Given the description of an element on the screen output the (x, y) to click on. 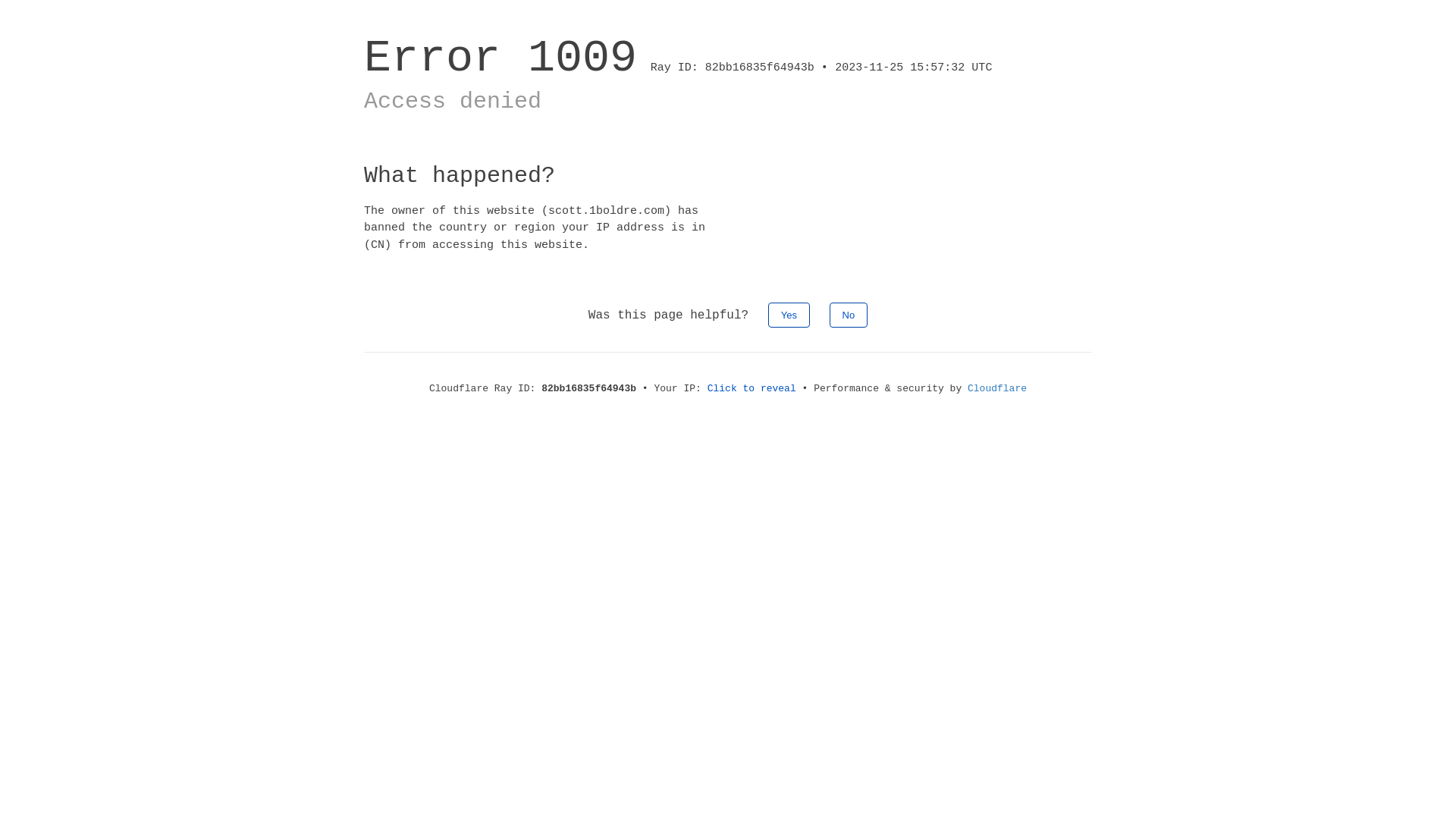
Click to reveal Element type: text (751, 388)
Cloudflare Element type: text (996, 388)
Yes Element type: text (788, 314)
No Element type: text (848, 314)
